Given the description of an element on the screen output the (x, y) to click on. 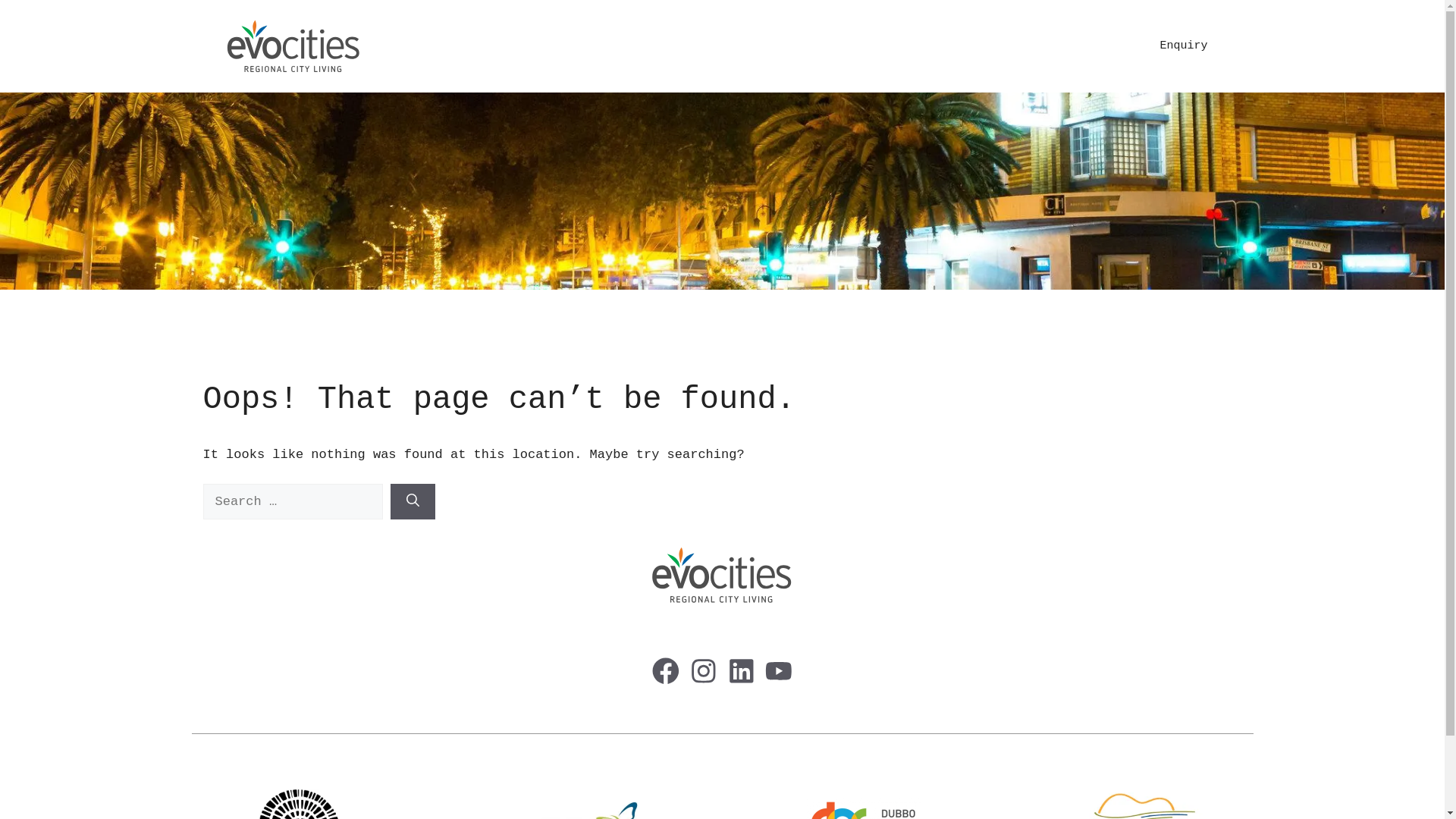
Evocities Element type: hover (293, 46)
Enquiry Element type: text (1183, 46)
Search for: Element type: hover (292, 501)
Evocities Element type: hover (293, 46)
